Given the description of an element on the screen output the (x, y) to click on. 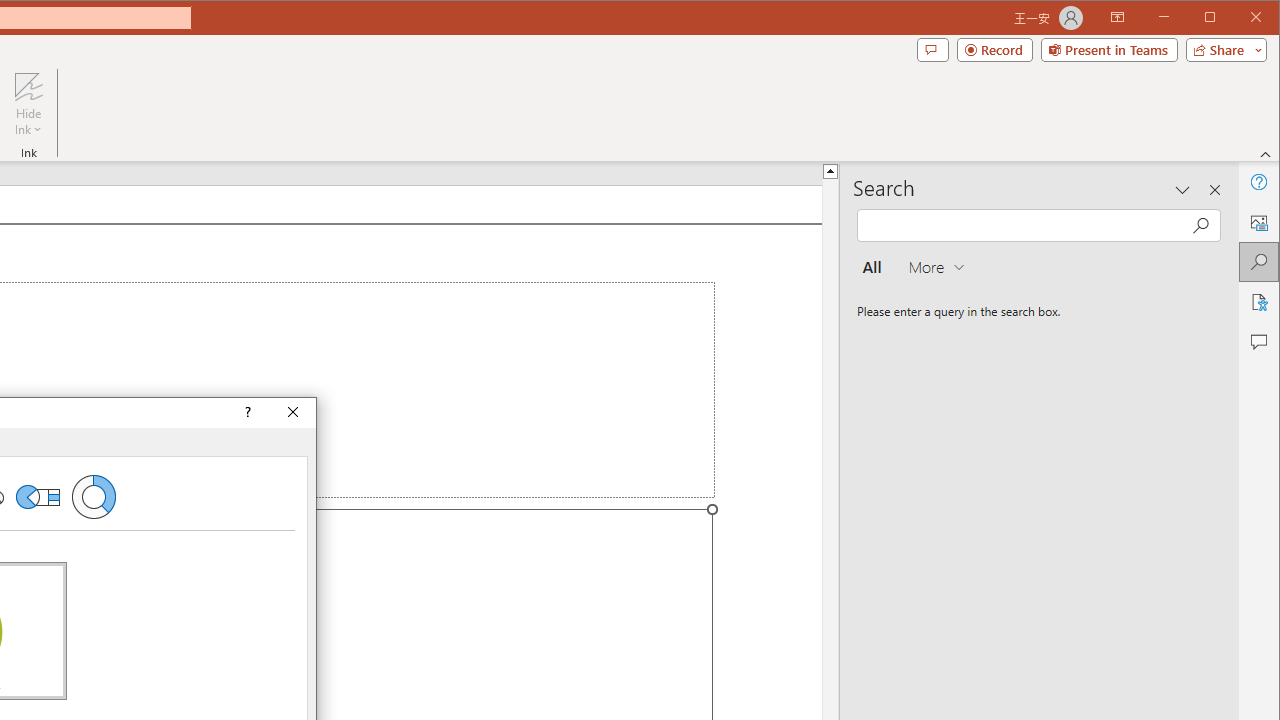
Hide Ink (28, 104)
Context help (246, 412)
Maximize (1238, 18)
